Given the description of an element on the screen output the (x, y) to click on. 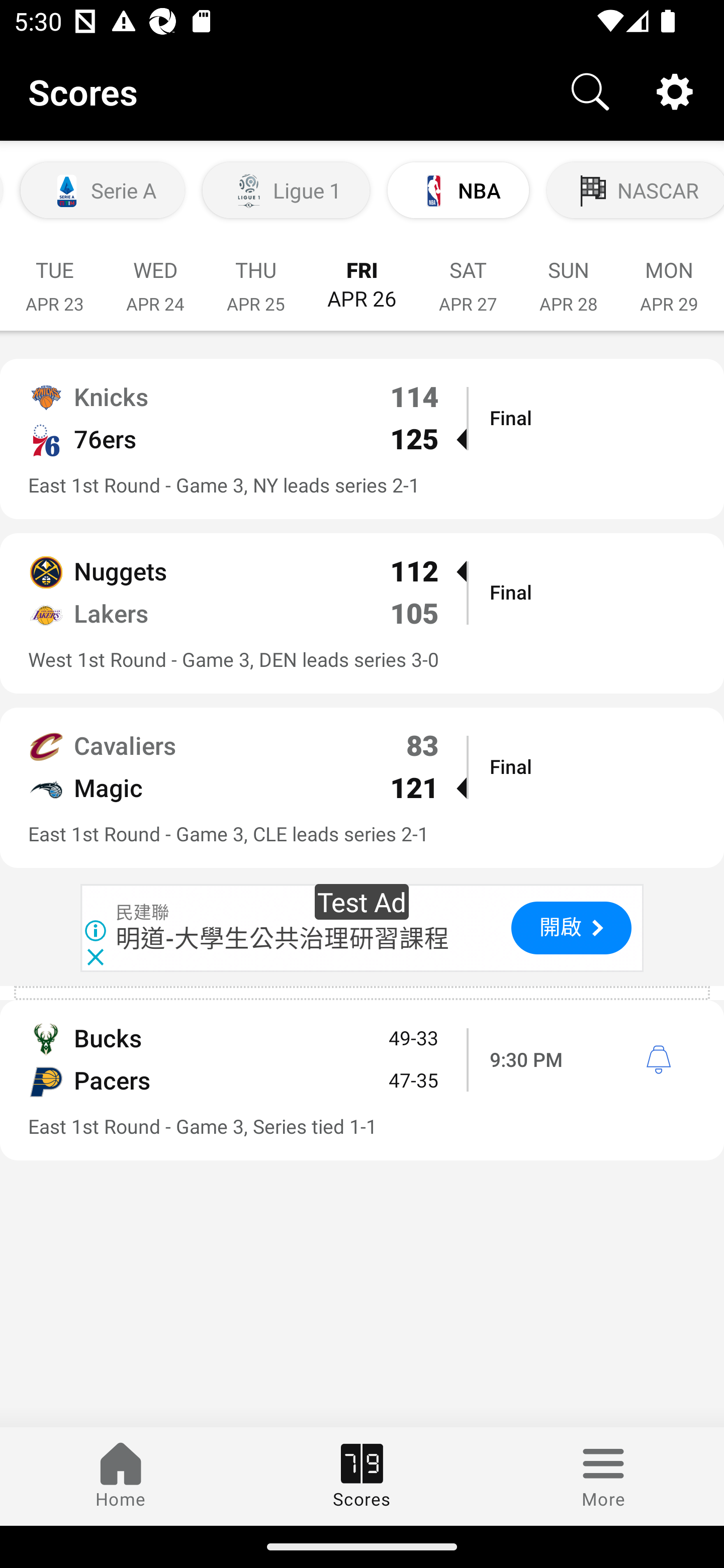
Search (590, 90)
Settings (674, 90)
Serie A (102, 190)
Ligue 1 (285, 190)
NBA (458, 190)
NASCAR (633, 190)
TUE APR 23 (54, 276)
WED APR 24 (154, 276)
THU APR 25 (255, 276)
FRI APR 26 (361, 275)
SAT APR 27 (467, 276)
SUN APR 28 (568, 276)
MON APR 29 (669, 276)
民建聯 (142, 912)
開啟 (570, 927)
明道-大學生公共治理研習課程 (282, 937)
í (658, 1059)
Home (120, 1475)
More (603, 1475)
